Given the description of an element on the screen output the (x, y) to click on. 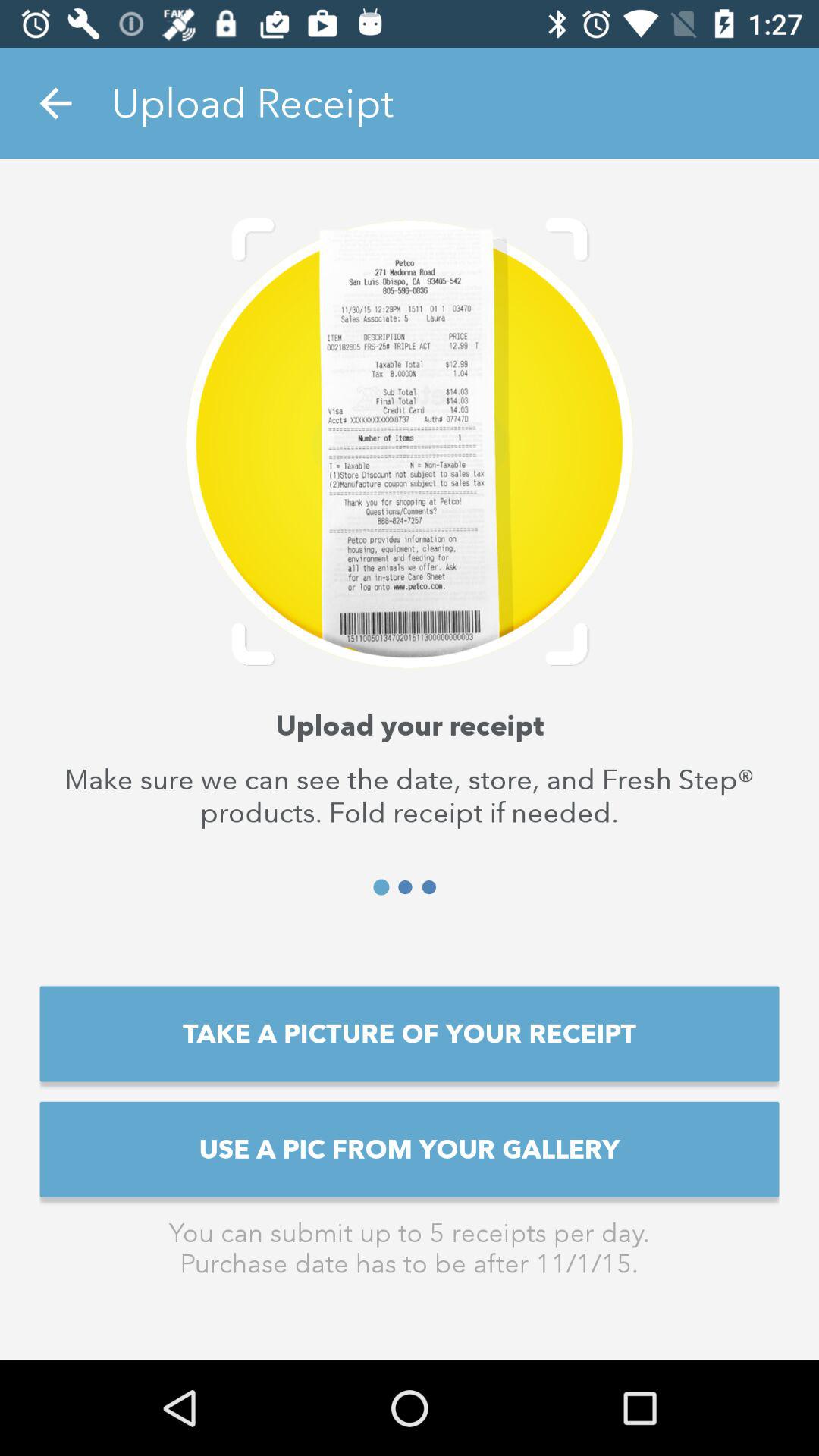
select the icon above the use a pic icon (409, 1033)
